Given the description of an element on the screen output the (x, y) to click on. 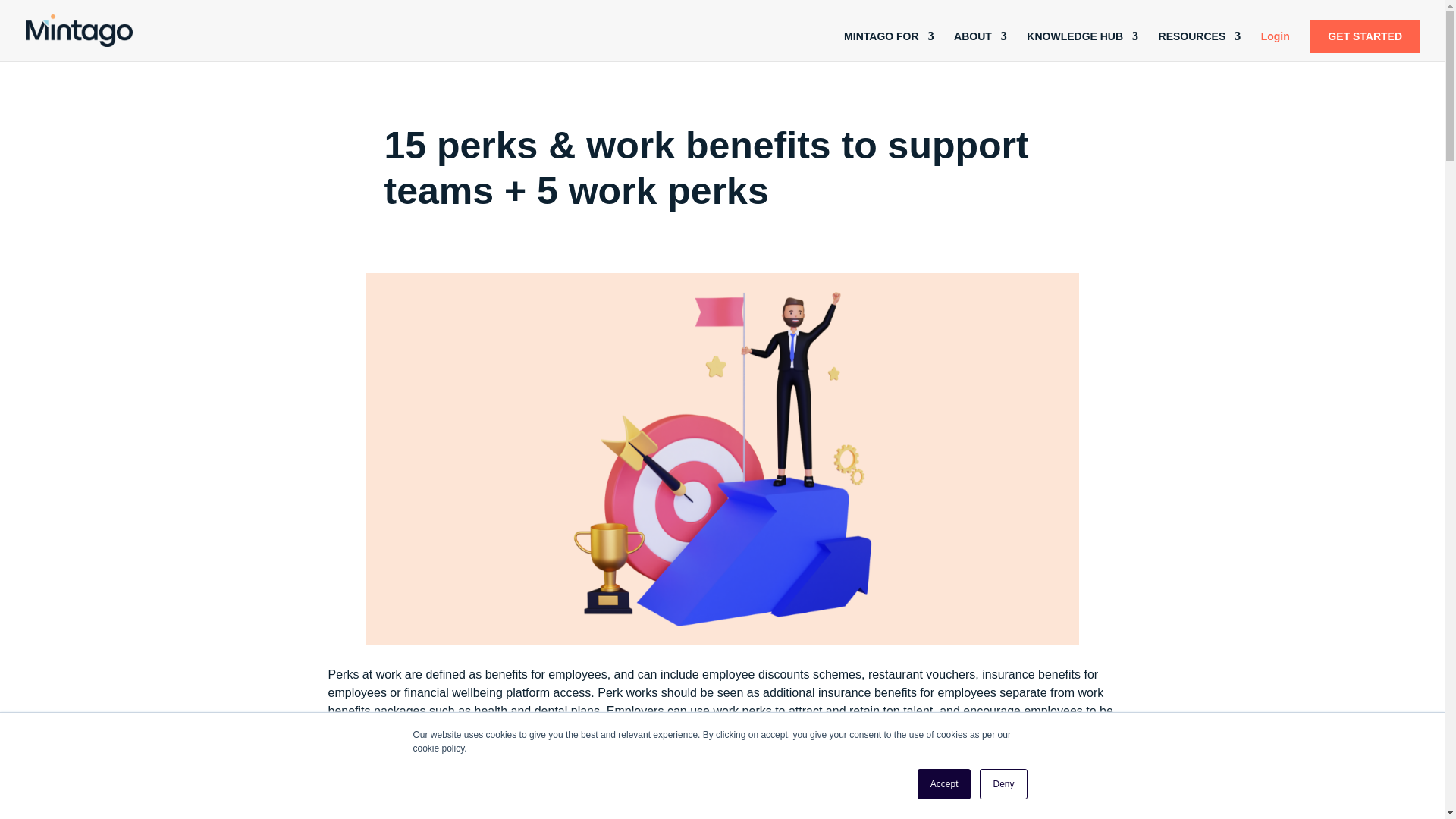
Login (1275, 46)
Chat Widget (37, 782)
ABOUT (980, 46)
Deny (1002, 784)
KNOWLEDGE HUB (1082, 46)
Accept (944, 784)
MINTAGO FOR (889, 46)
GET STARTED (1364, 36)
RESOURCES (1199, 46)
